Given the description of an element on the screen output the (x, y) to click on. 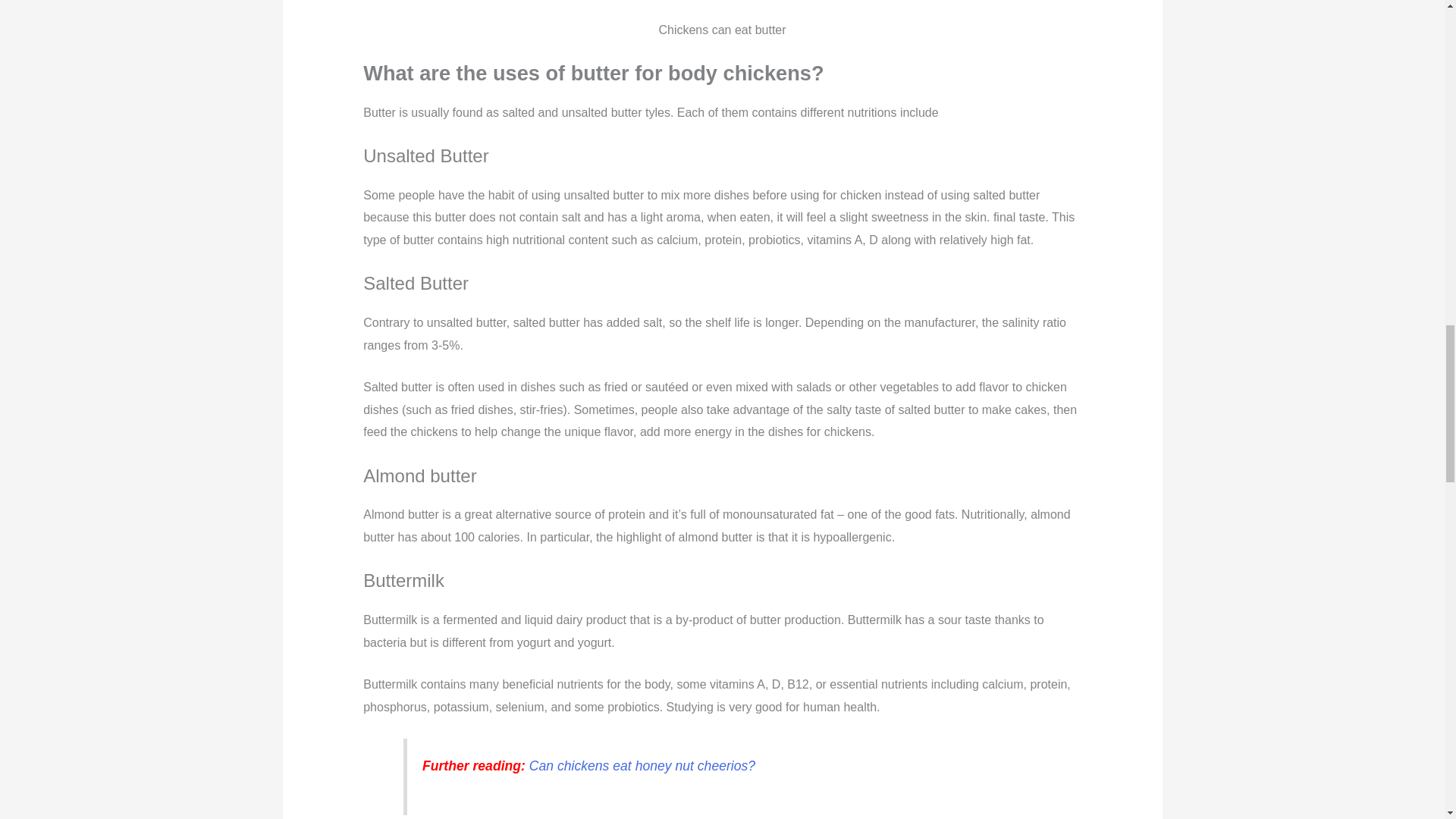
Can chickens eat honey nut cheerios? (642, 765)
